Given the description of an element on the screen output the (x, y) to click on. 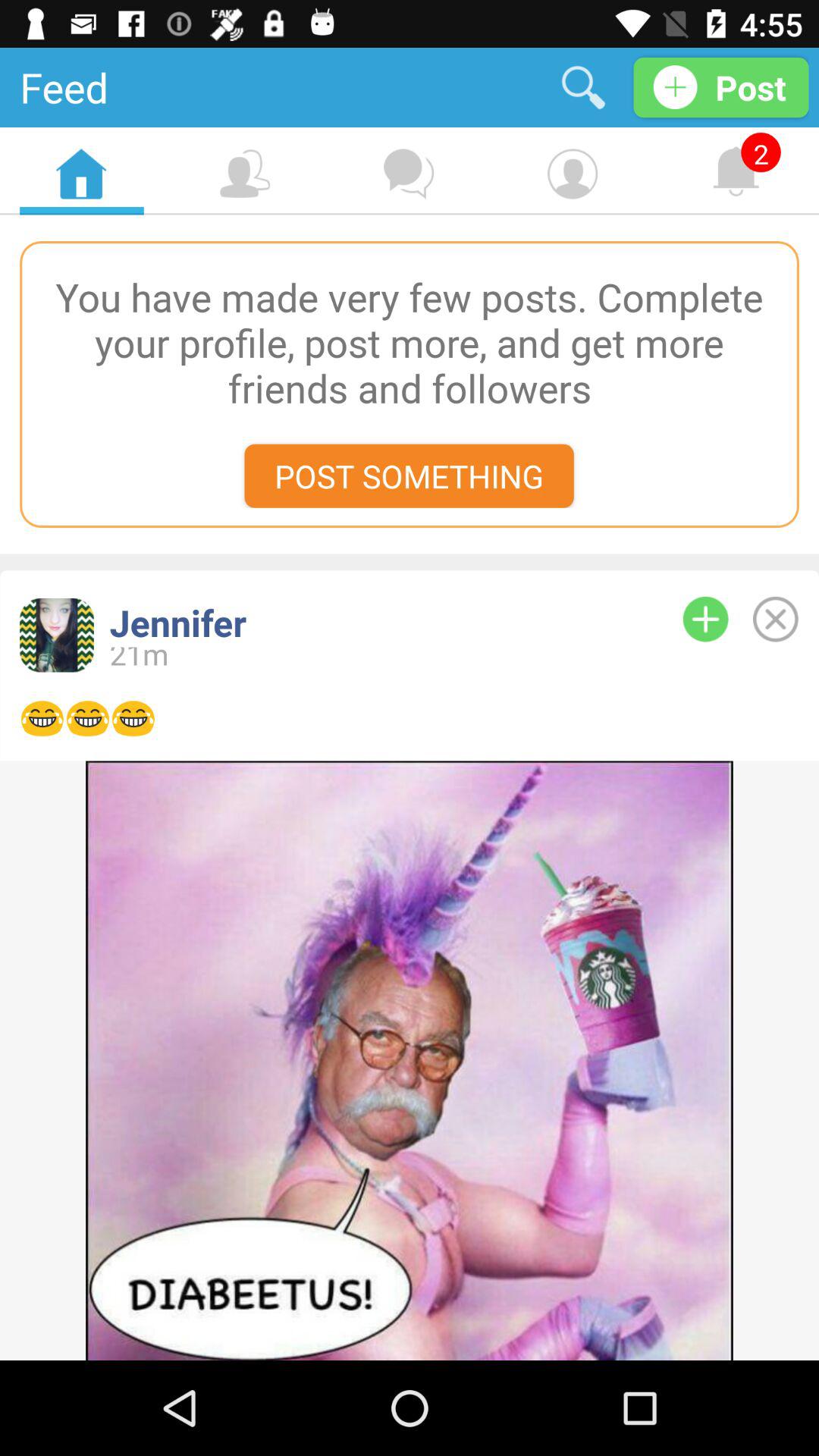
press icon above jennifer item (408, 475)
